Given the description of an element on the screen output the (x, y) to click on. 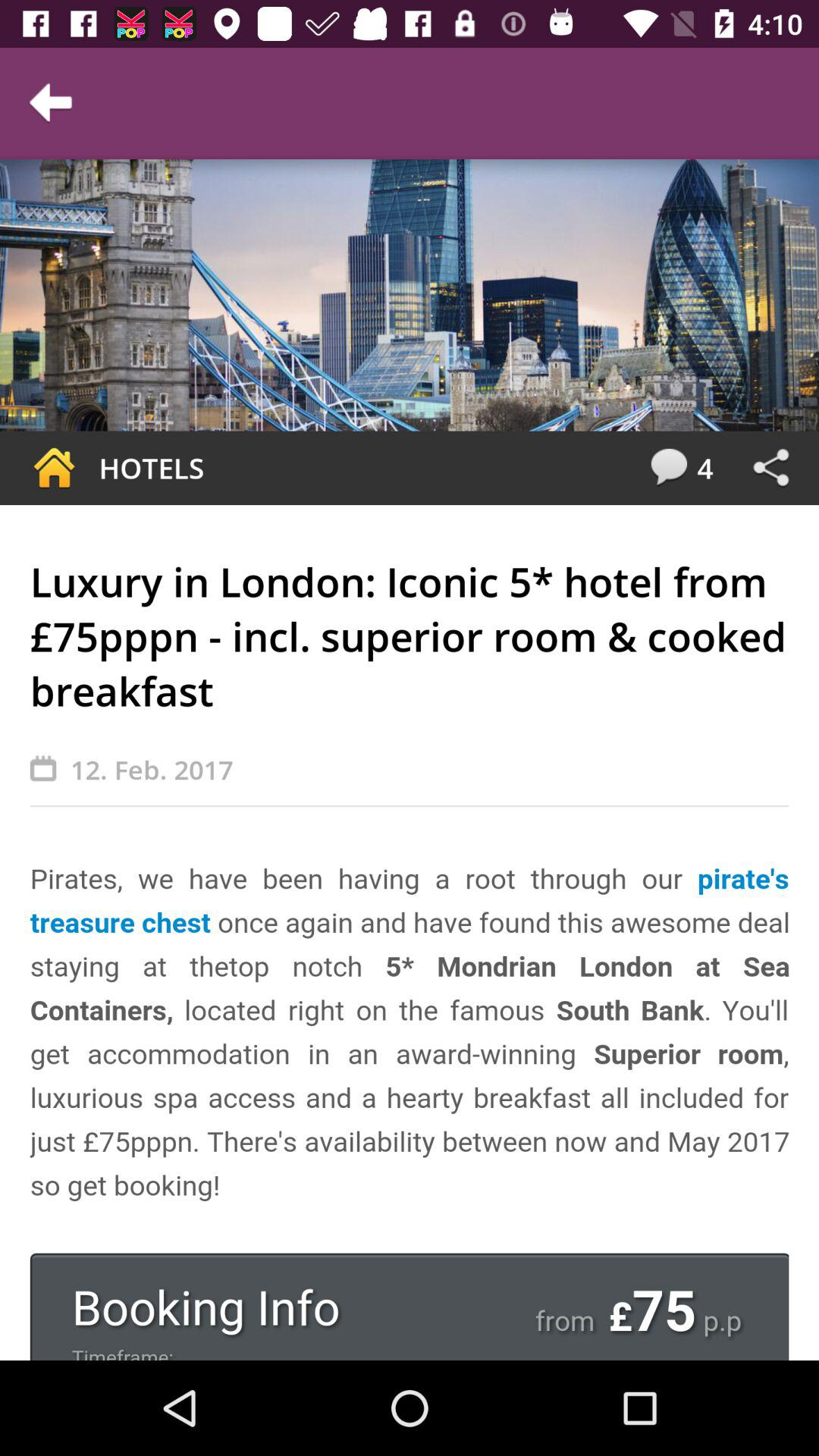
hotel description (409, 1108)
